Given the description of an element on the screen output the (x, y) to click on. 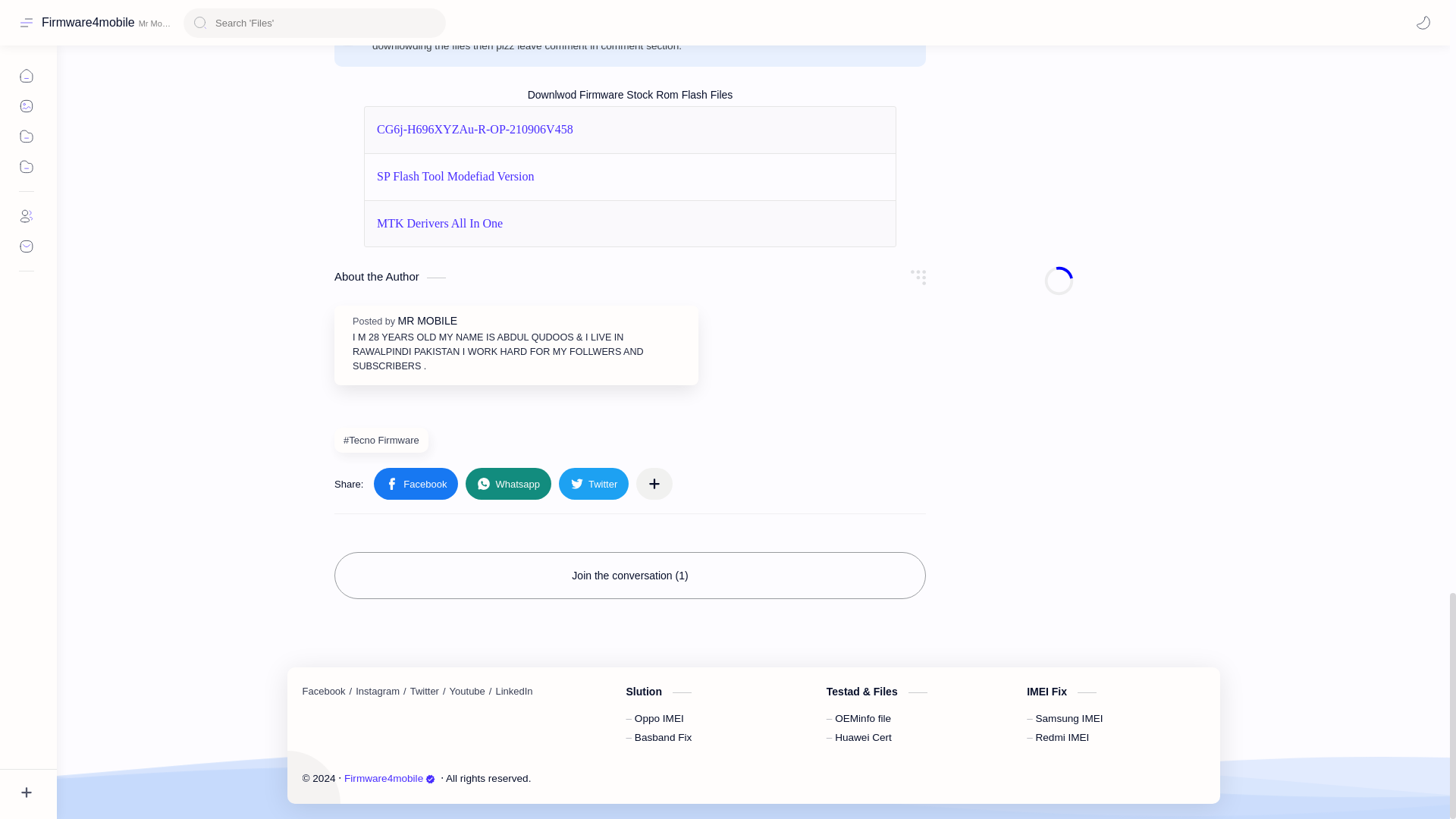
CG6j-H696XYZAu-R-OP-210906V458 (475, 128)
MTK Derivers All In One (439, 223)
SP Flash Tool Modefiad Version (455, 176)
